Given the description of an element on the screen output the (x, y) to click on. 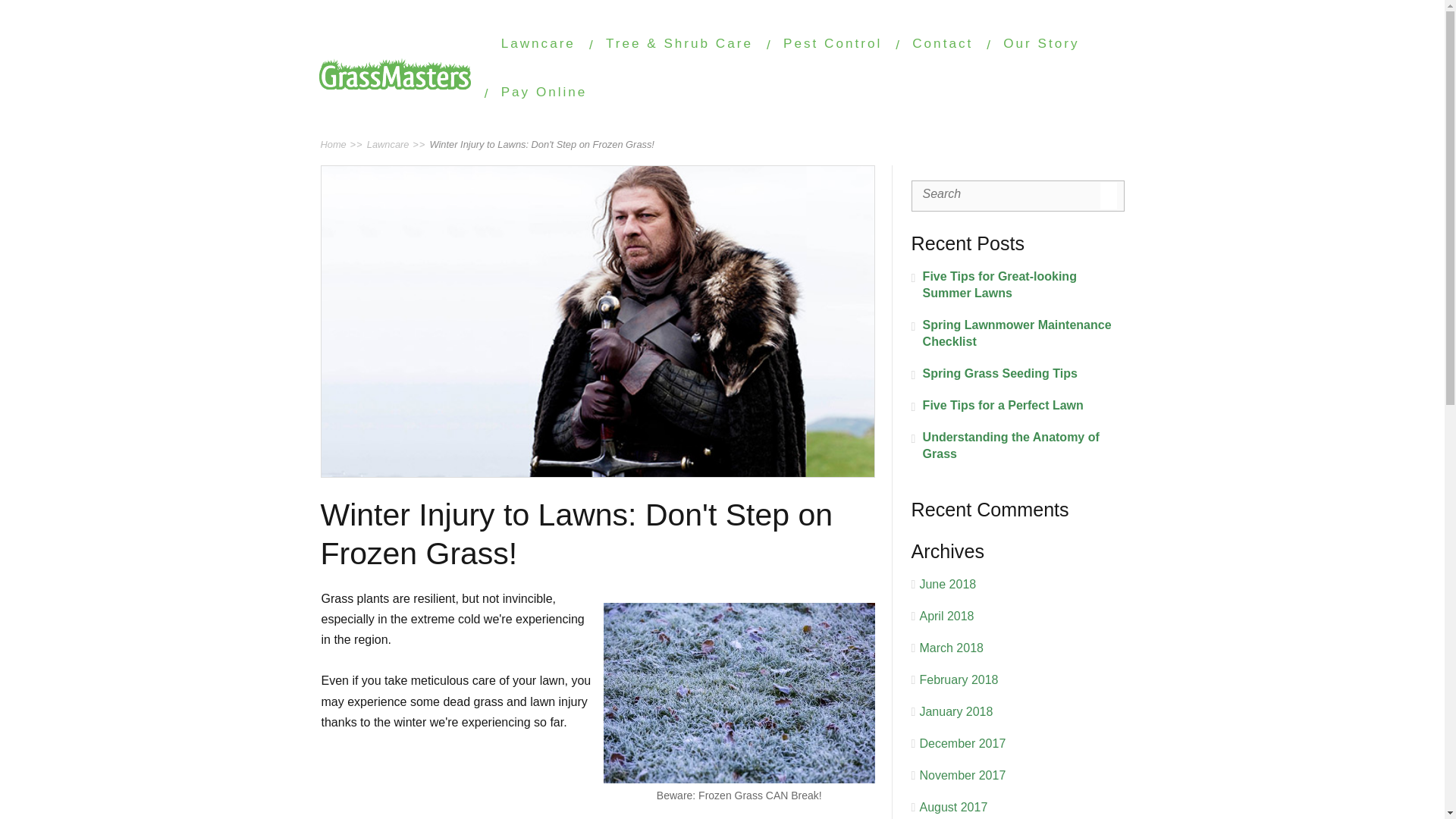
Lawncare (537, 43)
Understanding the Anatomy of Grass (1017, 445)
December 2017 (962, 743)
April 2018 (946, 615)
January 2018 (955, 711)
June 2018 (946, 584)
Five Tips for Great-looking Summer Lawns (1017, 285)
Our Story (1040, 43)
grass (739, 692)
